Given the description of an element on the screen output the (x, y) to click on. 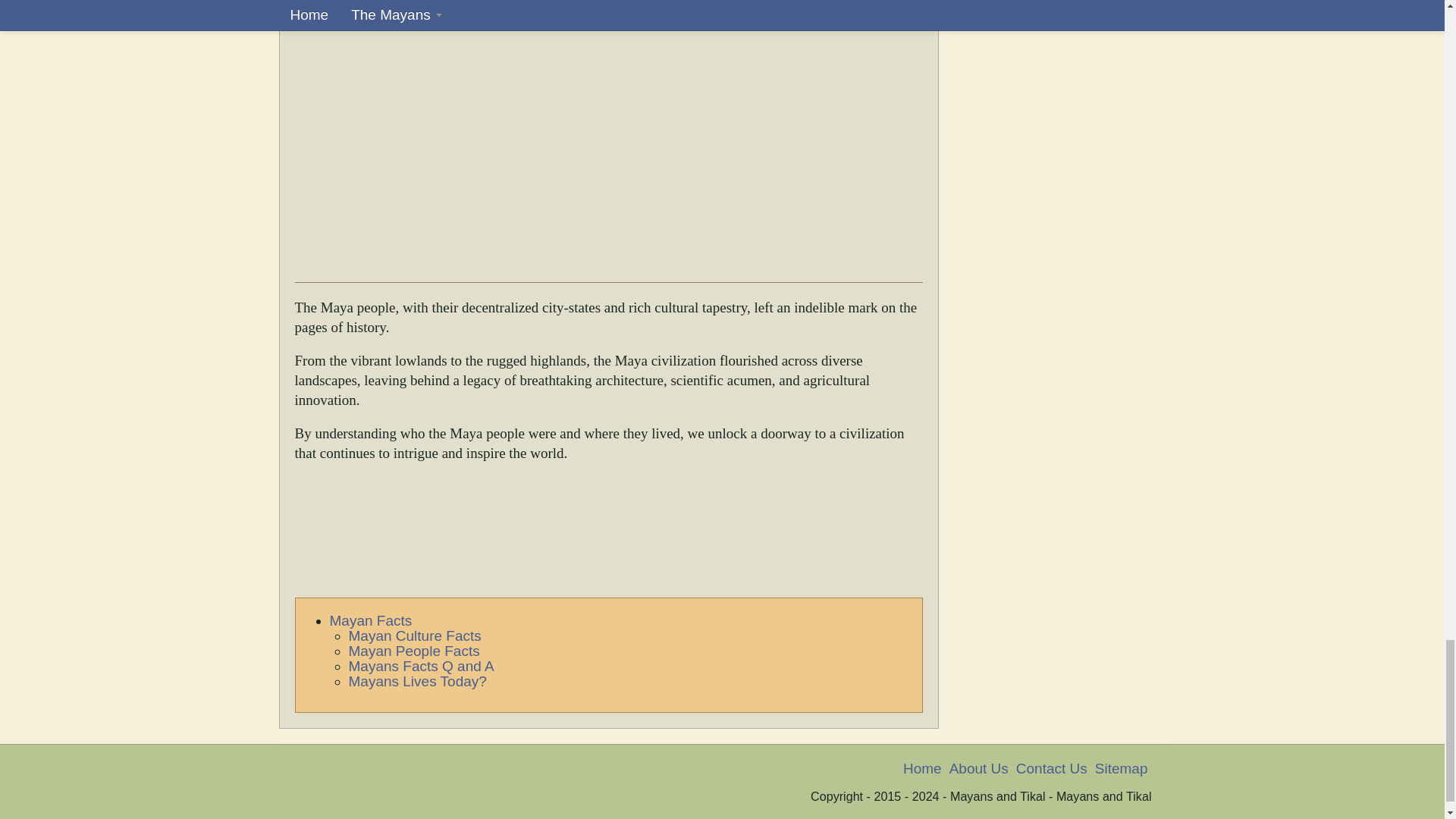
Mayans Facts Q and A (422, 666)
Mayans Lives Today? (417, 681)
Mayan Facts (370, 620)
Mayan People Facts (414, 650)
Mayan Culture Facts (415, 635)
